Given the description of an element on the screen output the (x, y) to click on. 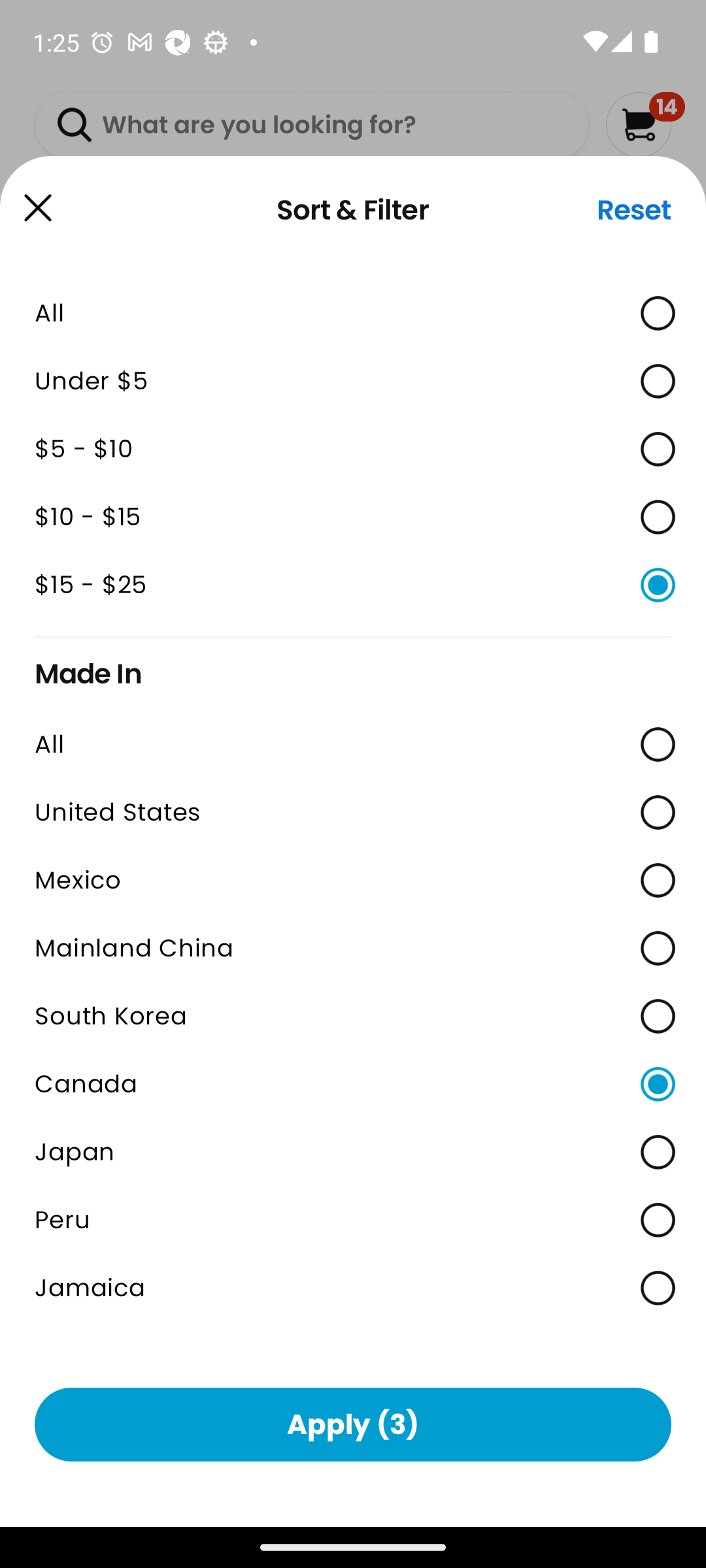
Reset (633, 209)
Apply (3) (352, 1424)
